Given the description of an element on the screen output the (x, y) to click on. 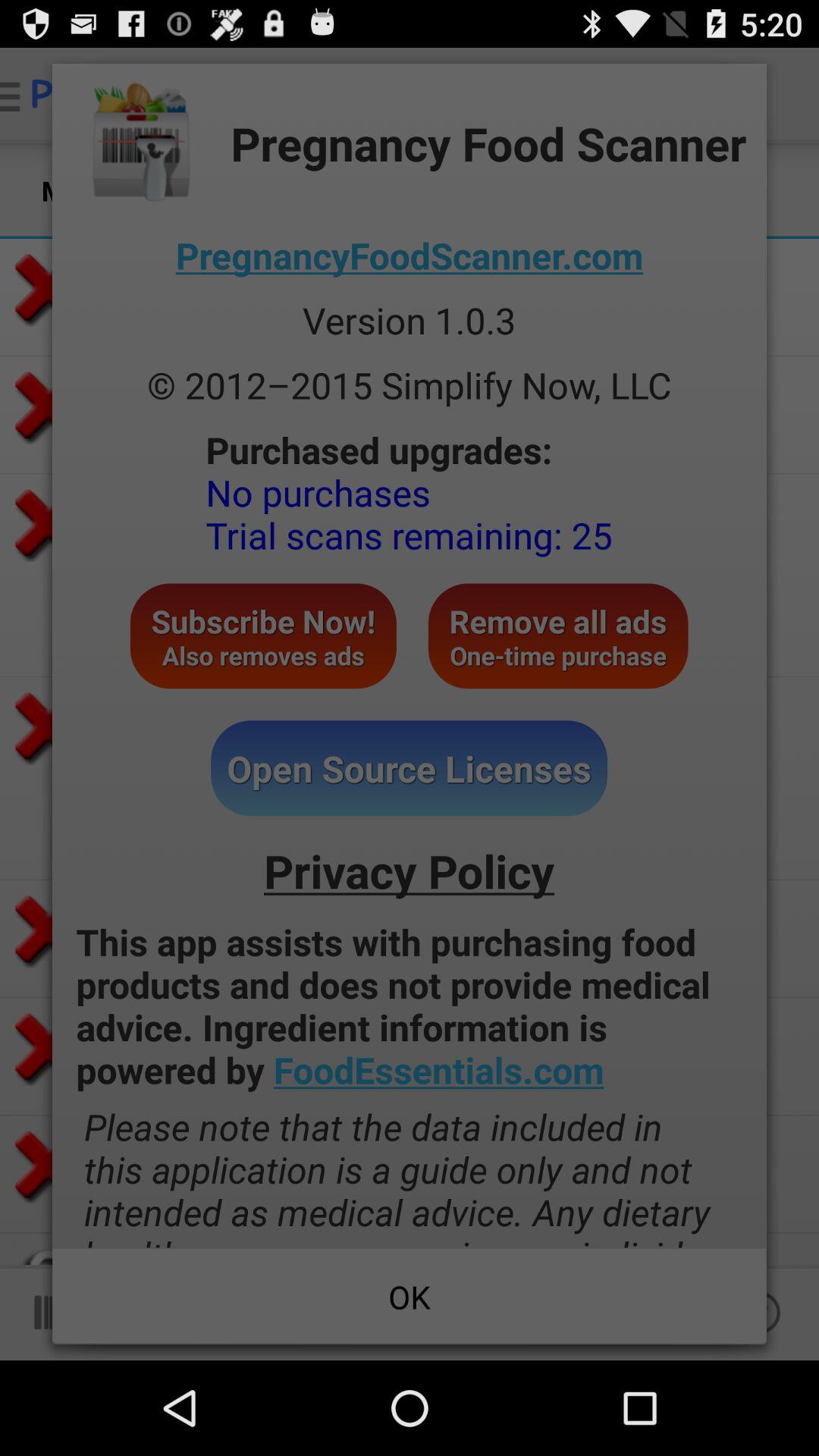
swipe to the subscribe now also (263, 635)
